Given the description of an element on the screen output the (x, y) to click on. 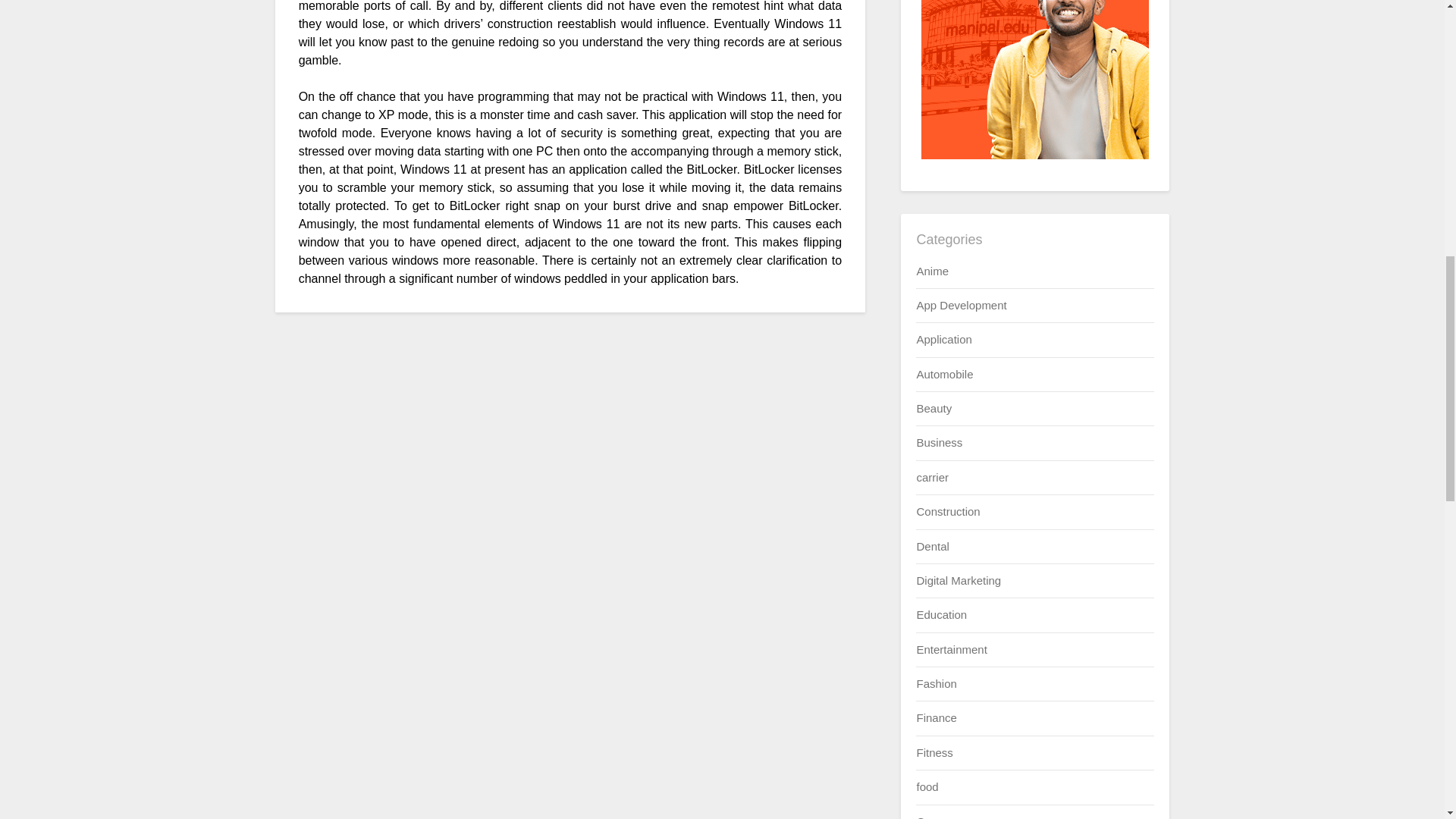
Entertainment (951, 649)
Dental (932, 545)
Fashion (935, 683)
Games (933, 816)
Application (943, 338)
Construction (947, 511)
Automobile (943, 373)
Fitness (933, 752)
App Development (960, 305)
carrier (932, 477)
food (926, 786)
Anime (932, 269)
Beauty (933, 408)
Business (938, 441)
Digital Marketing (958, 580)
